Given the description of an element on the screen output the (x, y) to click on. 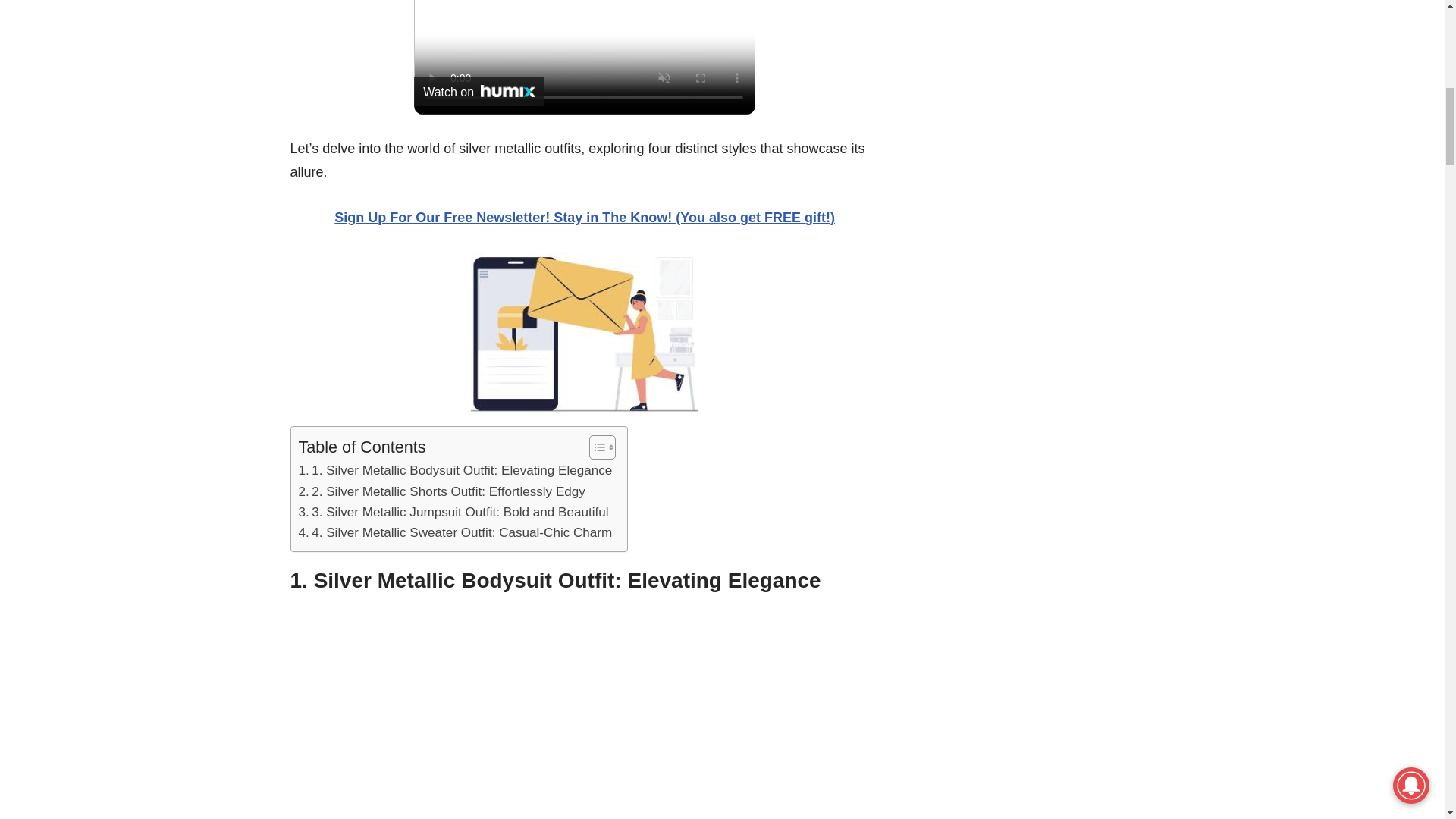
2. Silver Metallic Shorts Outfit: Effortlessly Edgy (441, 491)
3. Silver Metallic Jumpsuit Outfit: Bold and Beautiful (453, 512)
4. Silver Metallic Sweater Outfit: Casual-Chic Charm (455, 532)
1. Silver Metallic Bodysuit Outfit: Elevating Elegance (455, 470)
